Given the description of an element on the screen output the (x, y) to click on. 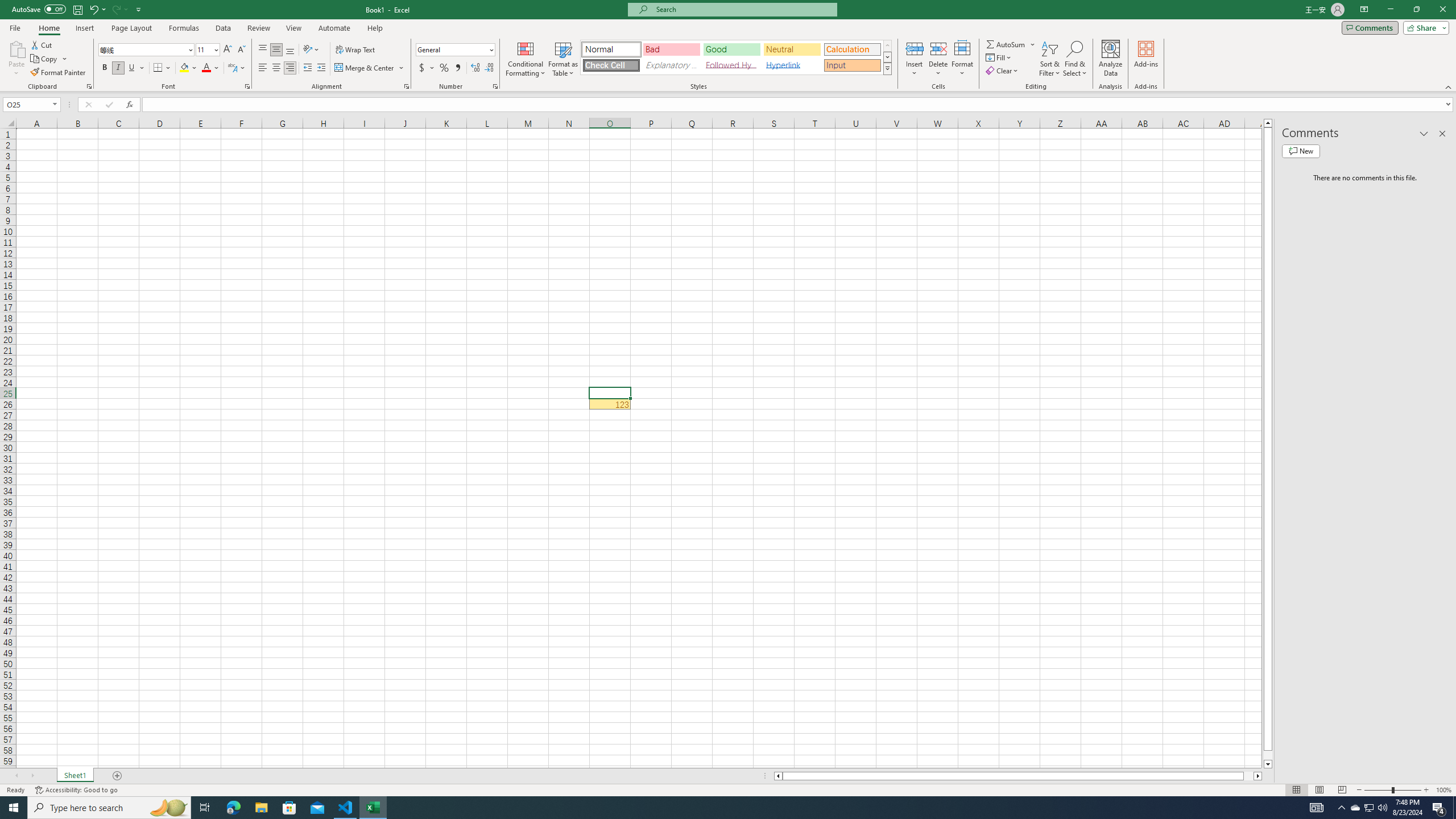
Accounting Number Format (422, 67)
Page right (1248, 775)
Insert Cells (914, 48)
Good (731, 49)
Font Color RGB(255, 0, 0) (206, 67)
Align Right (290, 67)
Close pane (1441, 133)
Align Left (262, 67)
Fill (999, 56)
